Given the description of an element on the screen output the (x, y) to click on. 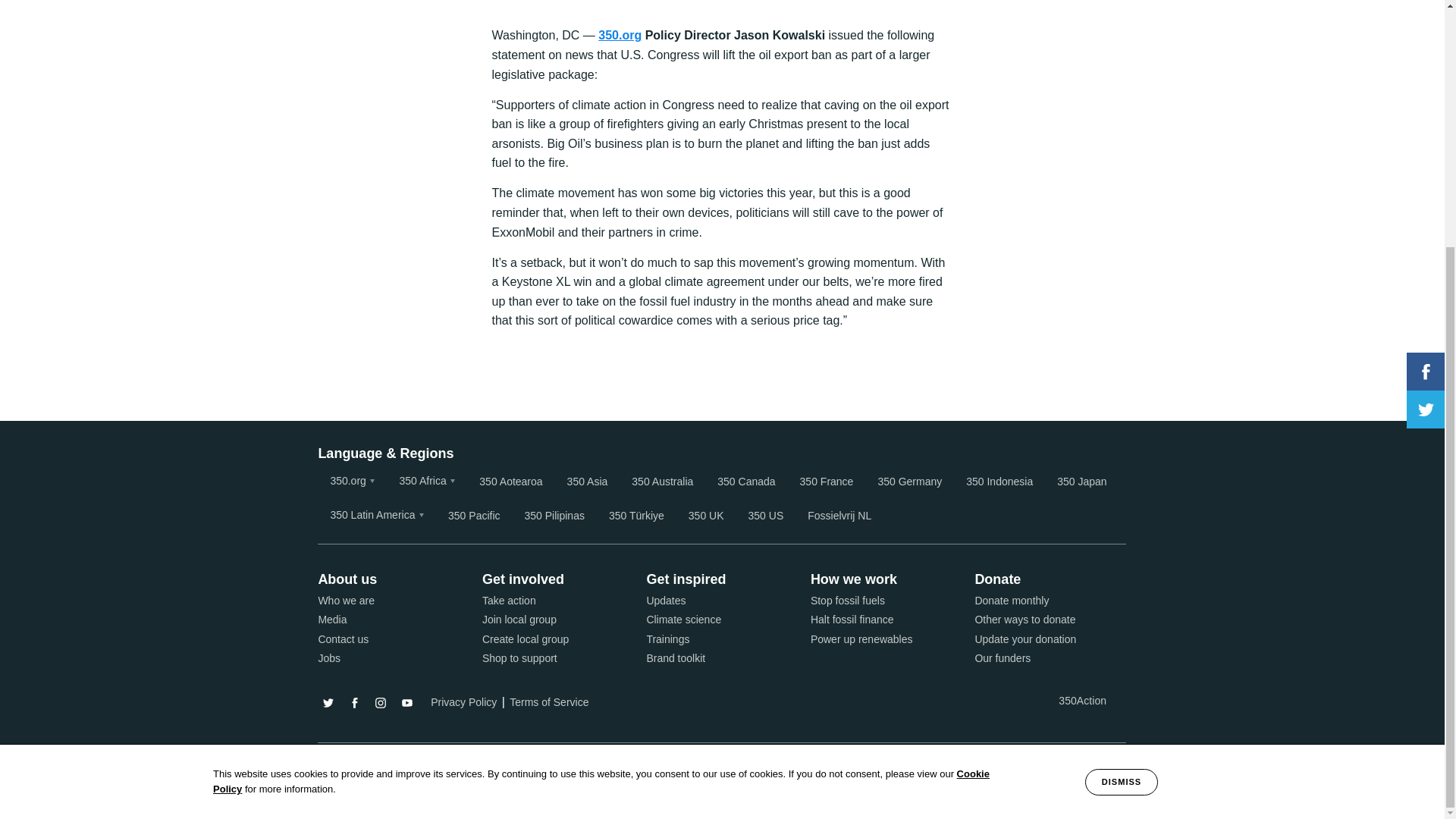
350 Africa (427, 480)
350.org (352, 480)
350.org (620, 34)
